Given the description of an element on the screen output the (x, y) to click on. 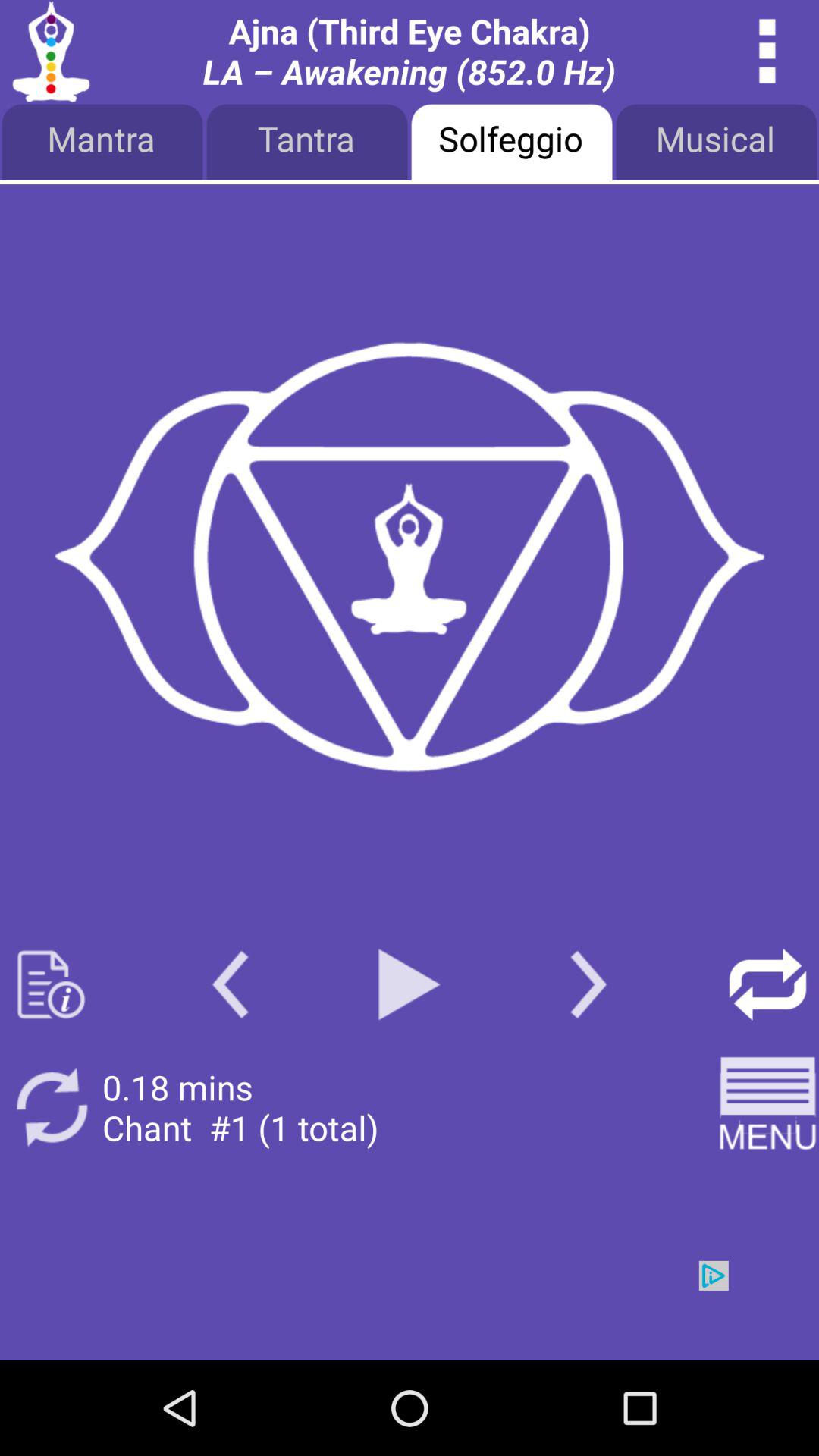
go back (230, 984)
